Given the description of an element on the screen output the (x, y) to click on. 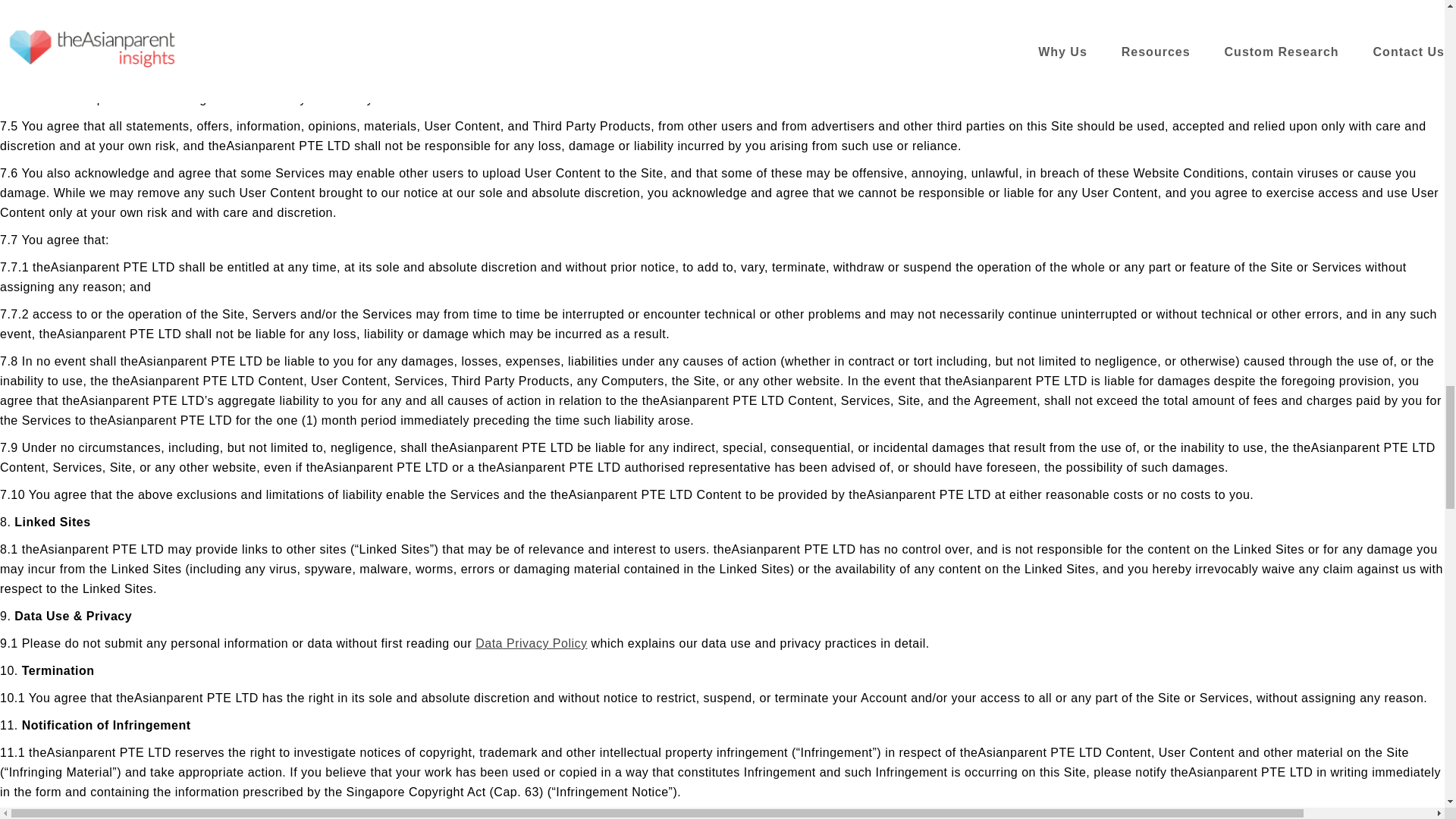
Data Privacy Policy (531, 643)
